Given the description of an element on the screen output the (x, y) to click on. 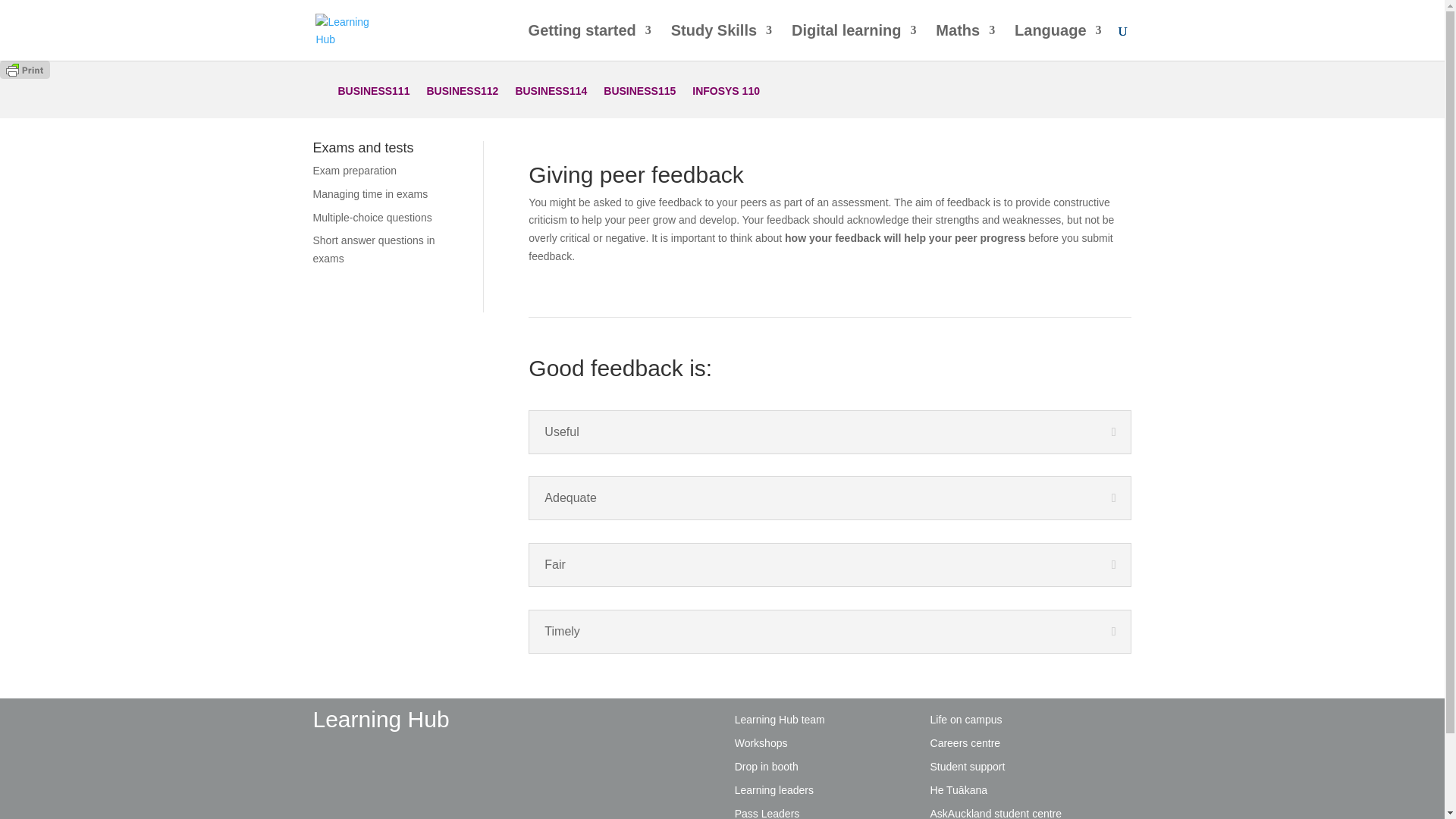
Careers centre (965, 743)
Study Skills (721, 42)
Student Support (968, 766)
Getting started (589, 42)
Life on campus (966, 719)
AskAuckland student centre (996, 813)
